Given the description of an element on the screen output the (x, y) to click on. 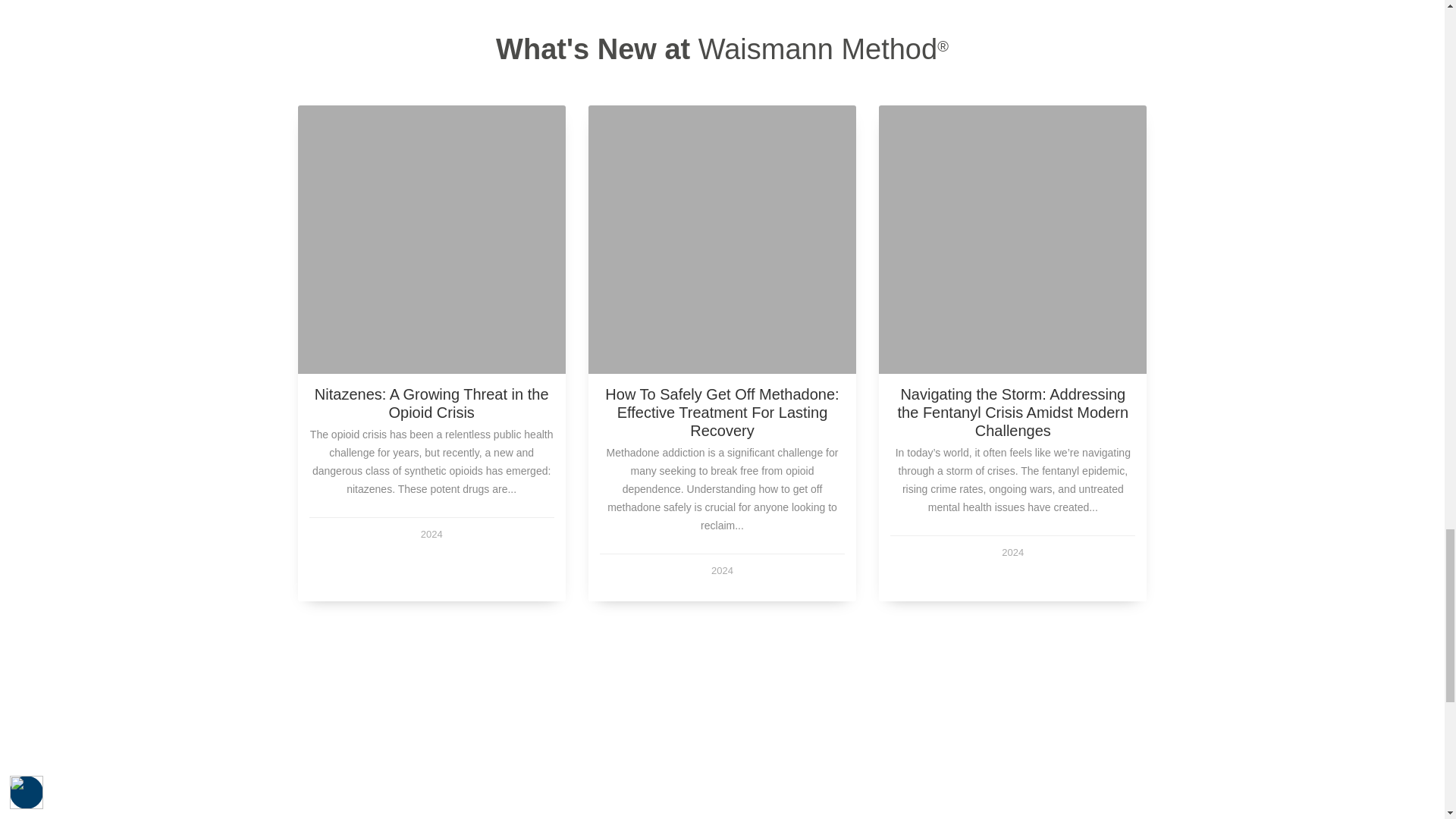
expertise (809, 792)
